Given the description of an element on the screen output the (x, y) to click on. 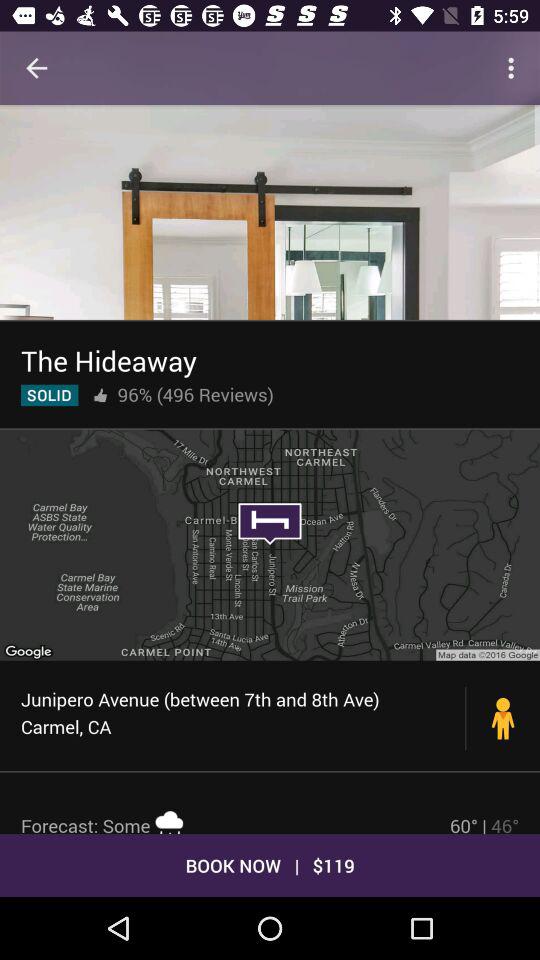
click on green button (49, 395)
select the text on left to the human icon on the web page (244, 713)
